Given the description of an element on the screen output the (x, y) to click on. 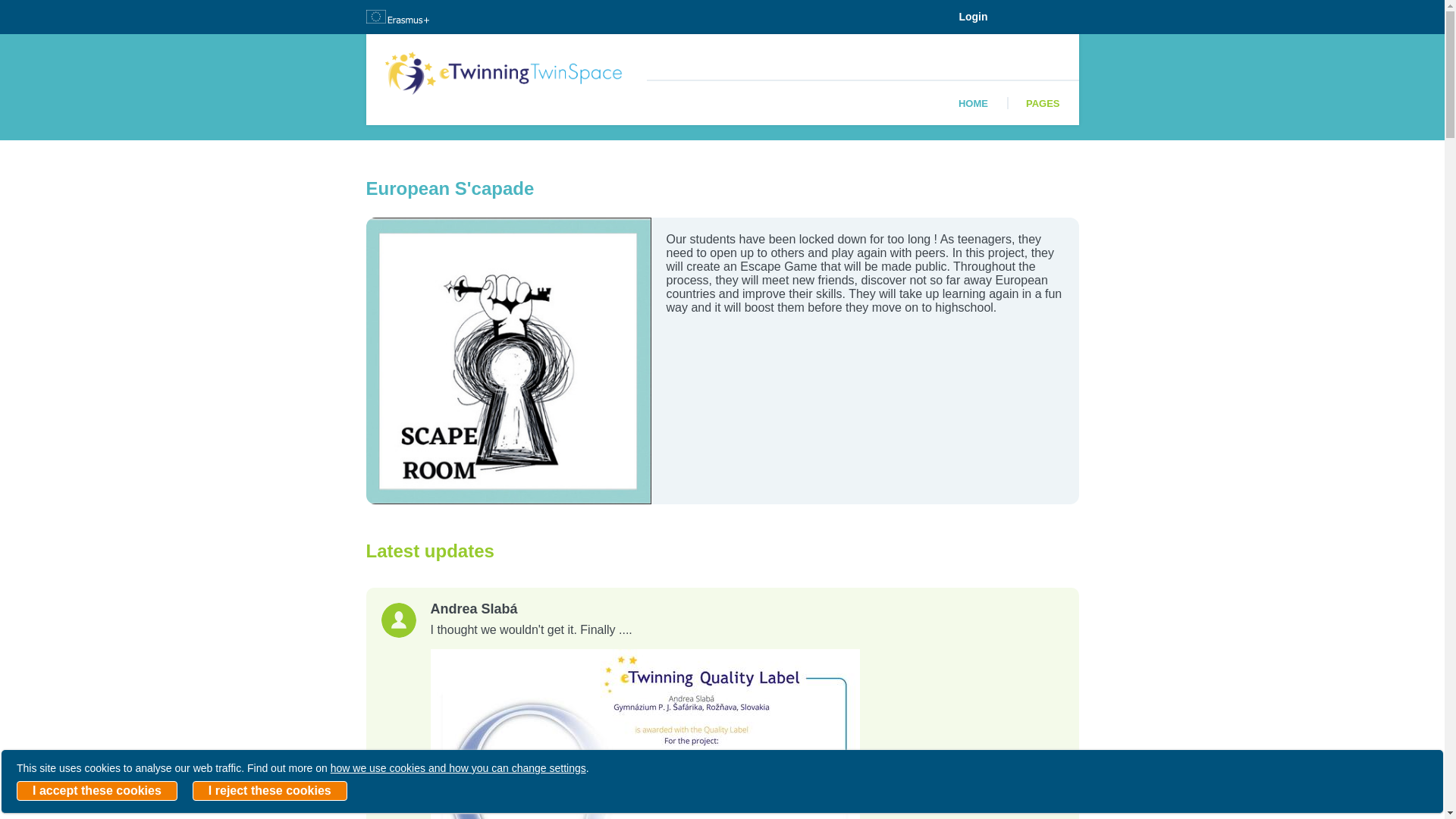
Login (972, 16)
how we use cookies and how you can change settings (458, 767)
PAGES (1042, 103)
HOME (973, 103)
I reject these cookies (269, 790)
I accept these cookies (96, 790)
